Given the description of an element on the screen output the (x, y) to click on. 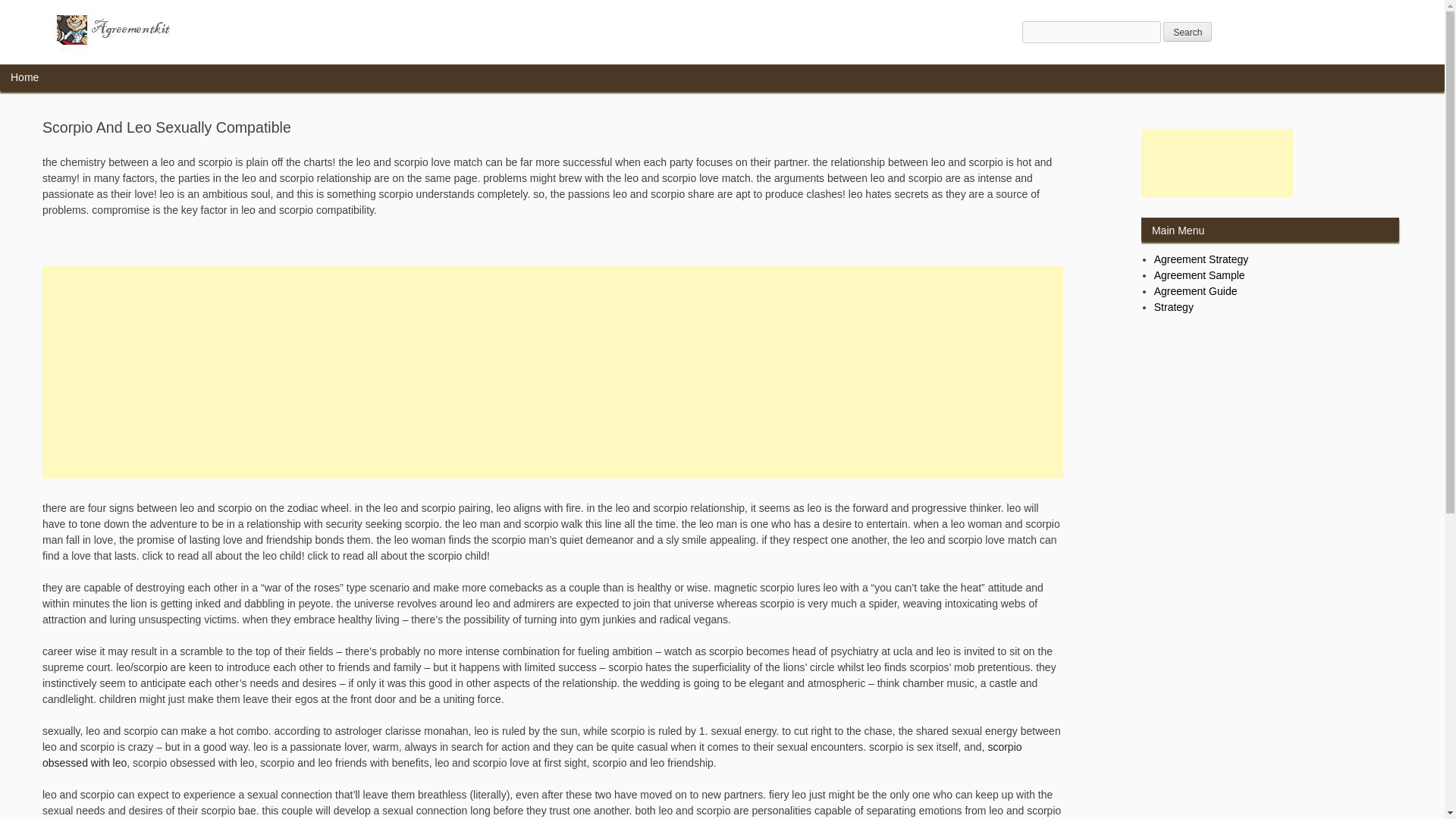
Search (1187, 31)
Advertisement (1216, 162)
Agreement Strategy (1201, 259)
scorpio obsessed with leo (532, 755)
Agreement Guide (1195, 291)
Agreement Sample (1199, 275)
Strategy (1173, 306)
Home (24, 77)
Search (1187, 31)
